Given the description of an element on the screen output the (x, y) to click on. 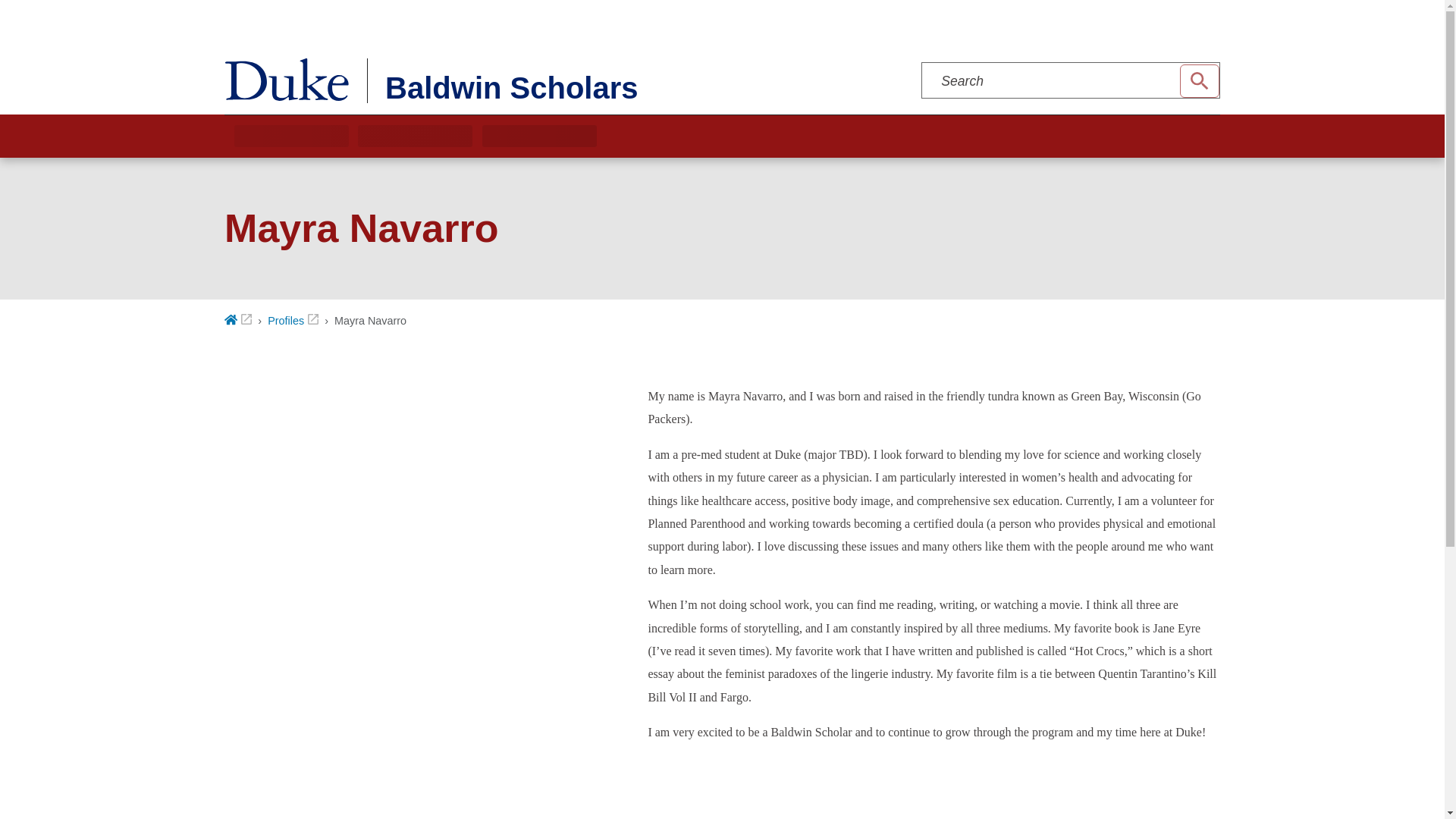
Home (237, 320)
Baldwin Scholars (547, 80)
Profiles (292, 320)
